Given the description of an element on the screen output the (x, y) to click on. 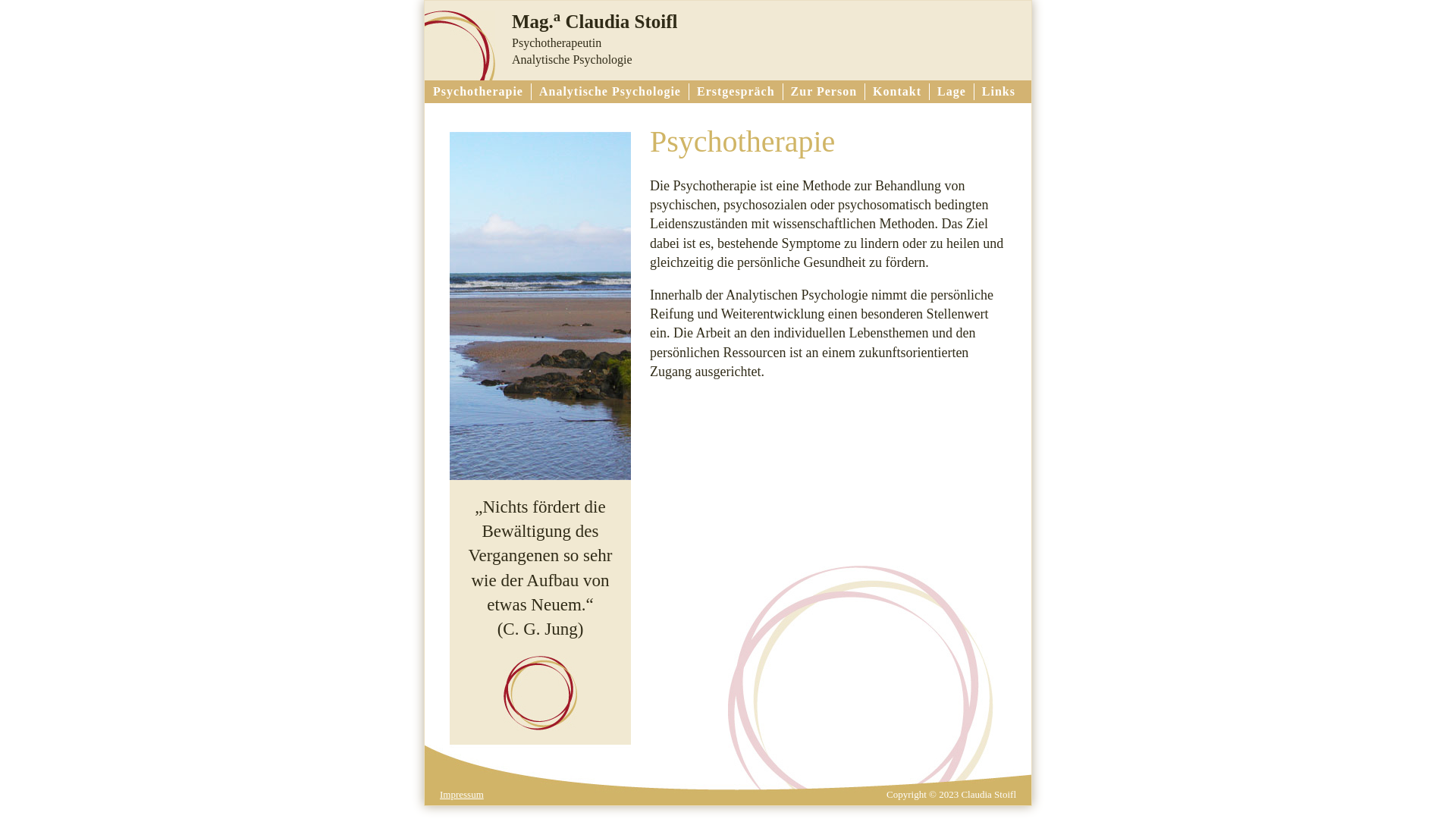
Impressum Element type: text (461, 794)
Links Element type: text (998, 90)
Zur Person Element type: text (823, 90)
Mag.a Claudia Stoifl Element type: text (594, 21)
Psychotherapie Element type: text (478, 90)
Kontakt Element type: text (896, 90)
Analytische Psychologie Element type: text (609, 90)
Lage Element type: text (951, 90)
